Given the description of an element on the screen output the (x, y) to click on. 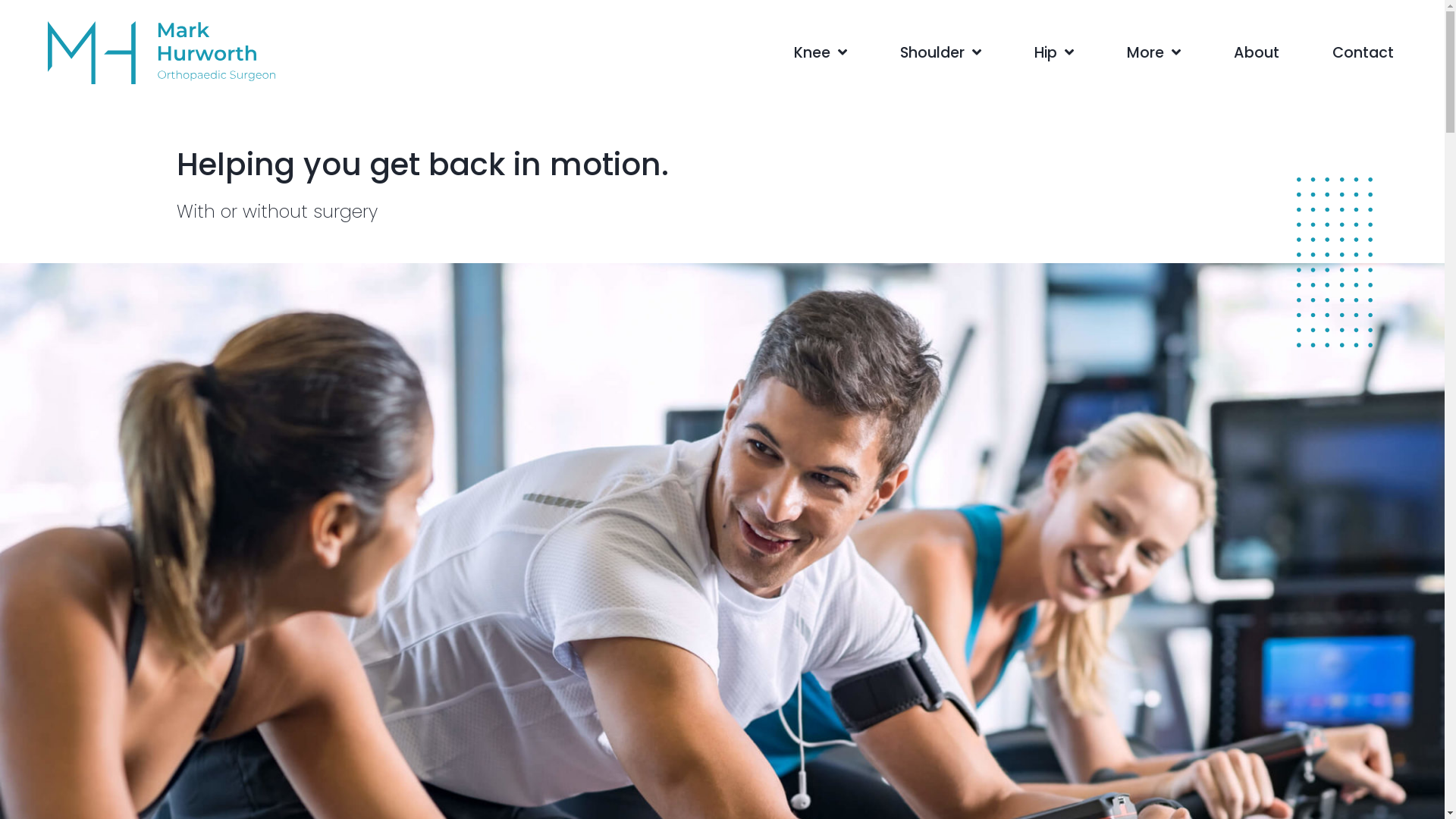
About Element type: text (1256, 52)
Shoulder Element type: text (940, 52)
More Element type: text (1152, 52)
Hip Element type: text (1052, 52)
Knee Element type: text (820, 52)
Contact Element type: text (1362, 52)
